Given the description of an element on the screen output the (x, y) to click on. 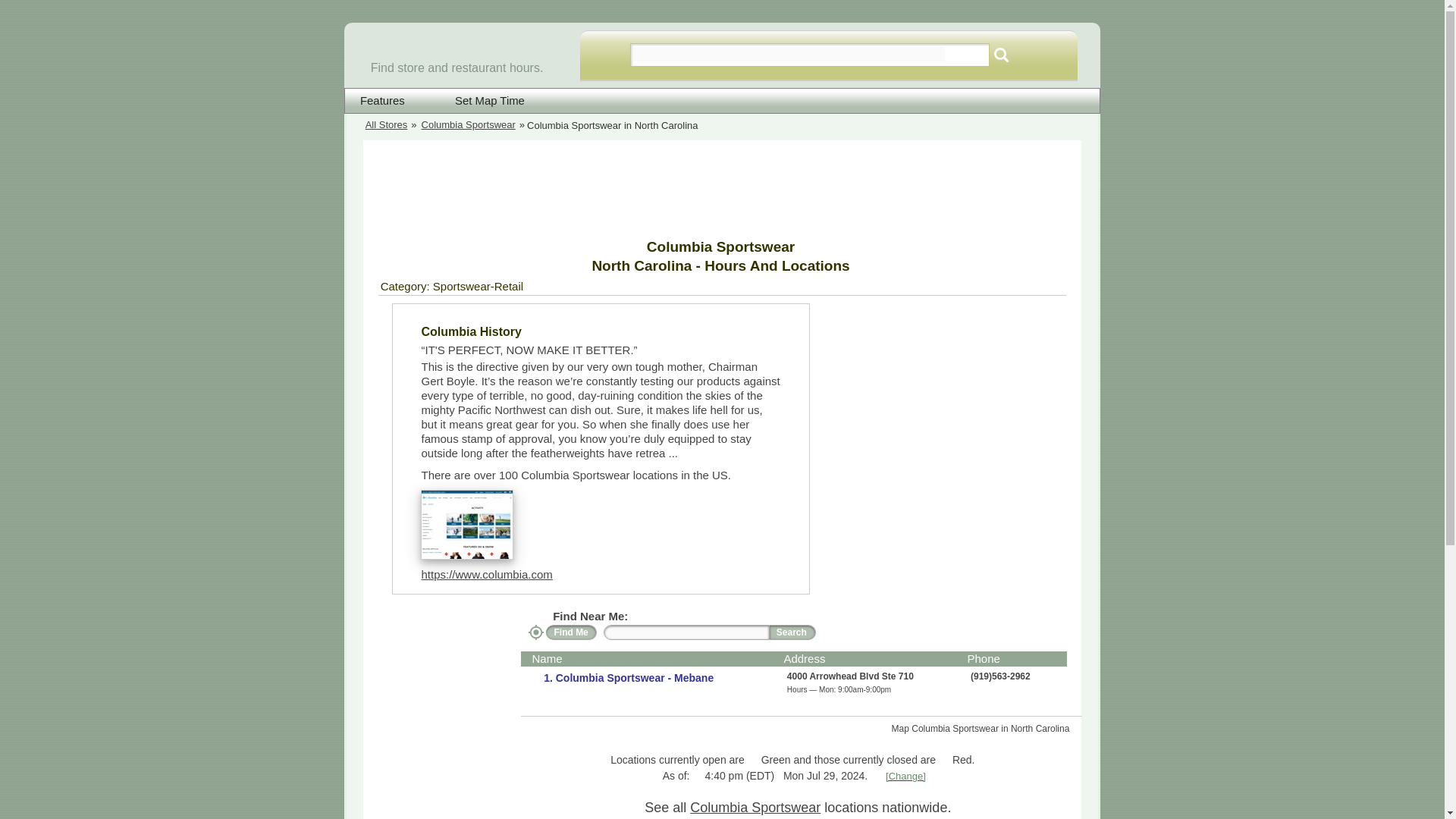
Columbia Sportswear - Mebane (632, 677)
Columbia Sportswear (755, 807)
Search (1000, 54)
Search (1000, 54)
  Set Map Time (480, 100)
Columbia Sportswear (468, 125)
Map Columbia Sportswear in North Carolina (987, 728)
All Stores (386, 125)
 Search (792, 631)
Features (382, 100)
Find Me (571, 631)
